Given the description of an element on the screen output the (x, y) to click on. 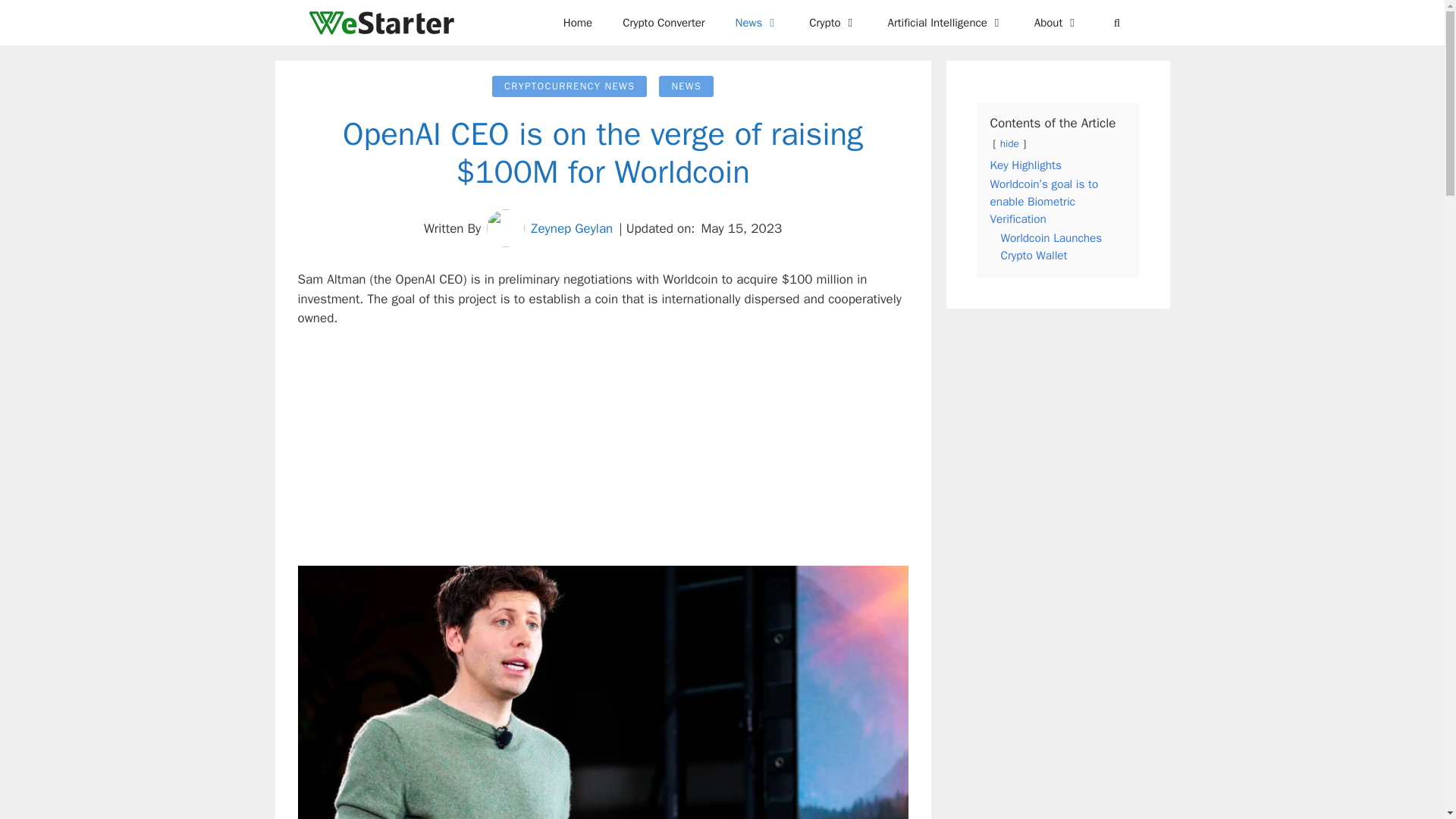
CRYPTOCURRENCY NEWS (569, 86)
hide (1009, 142)
Artificial Intelligence (945, 22)
Crypto (832, 22)
Key Highlights (1025, 165)
Home (577, 22)
Zeynep Geylan (571, 228)
WeStarter (380, 22)
Crypto Converter (663, 22)
News (757, 22)
NEWS (686, 86)
About (1056, 22)
Worldcoin Launches Crypto Wallet (1051, 246)
WeStarter (384, 22)
Advertisement (602, 453)
